Given the description of an element on the screen output the (x, y) to click on. 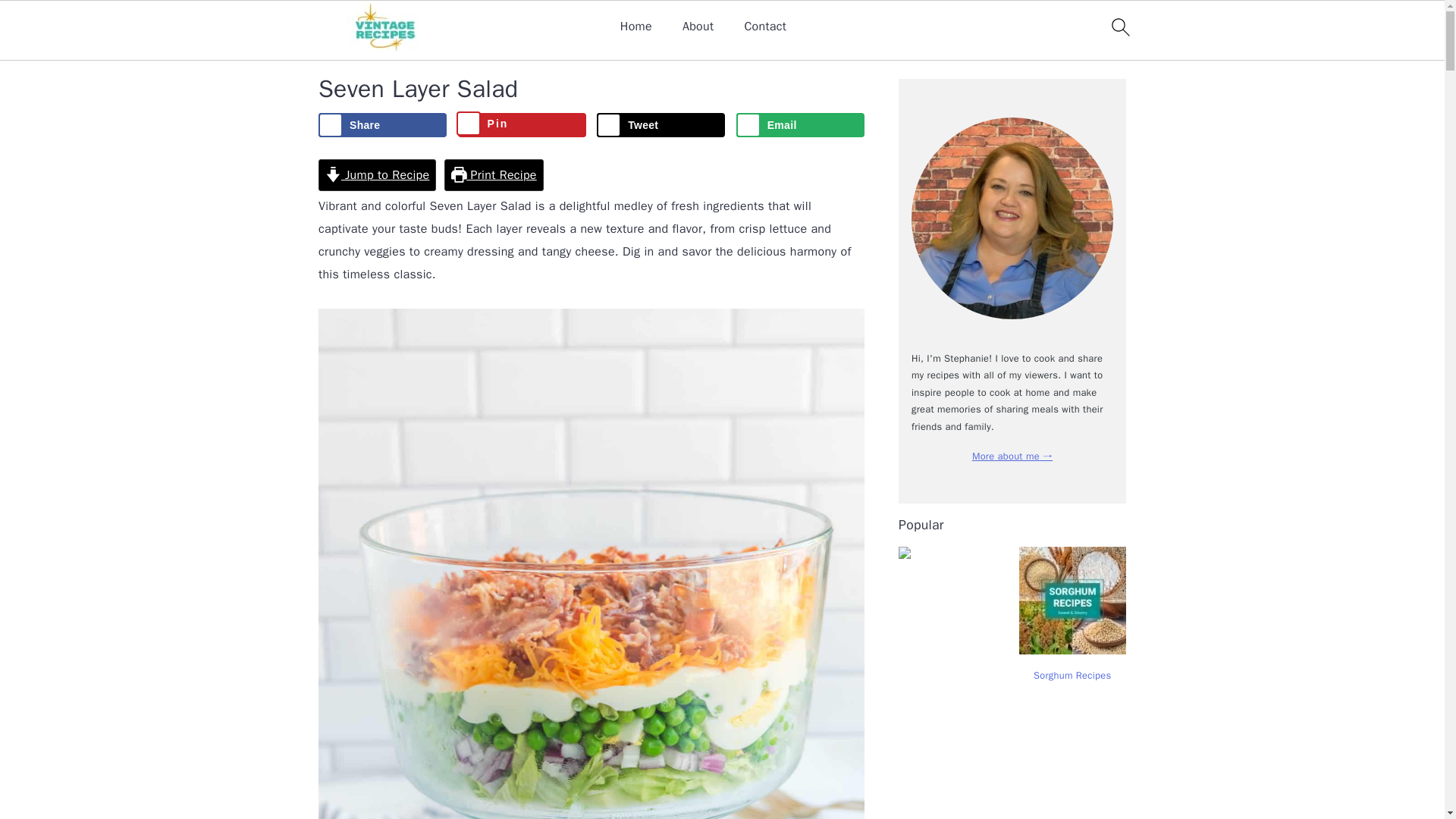
Send over email (800, 125)
search icon (1119, 26)
Share on Facebook (382, 125)
Share on X (660, 125)
search icon (1119, 31)
About (697, 26)
Save to Pinterest (522, 125)
Contact (765, 26)
Home (636, 26)
